Given the description of an element on the screen output the (x, y) to click on. 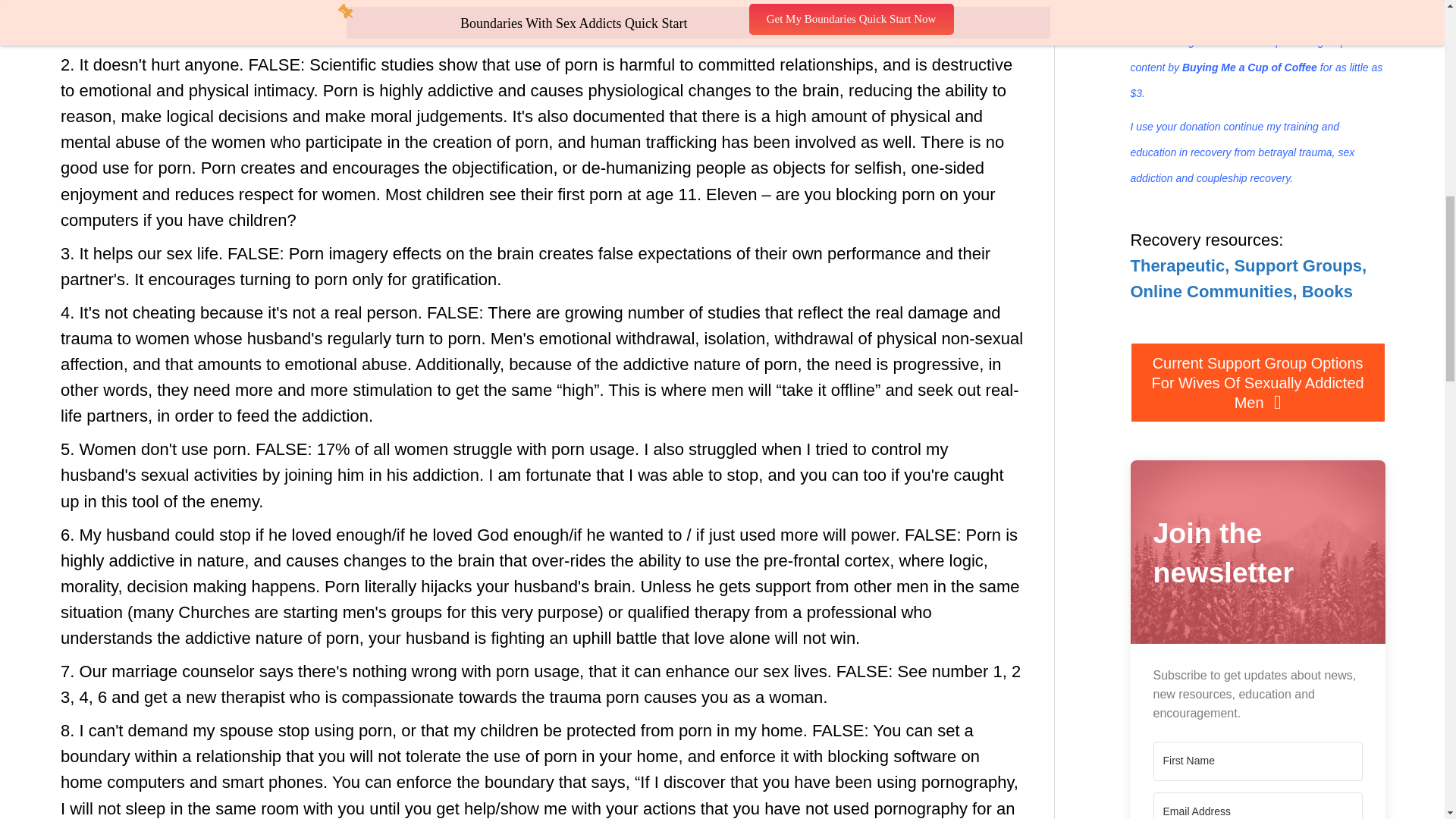
Therapeutic, Support Groups, Online Communities, Books (1248, 278)
private, tightly moderated Facebook Group (1245, 10)
Buying Me a Cup of Coffee  (1251, 67)
